Given the description of an element on the screen output the (x, y) to click on. 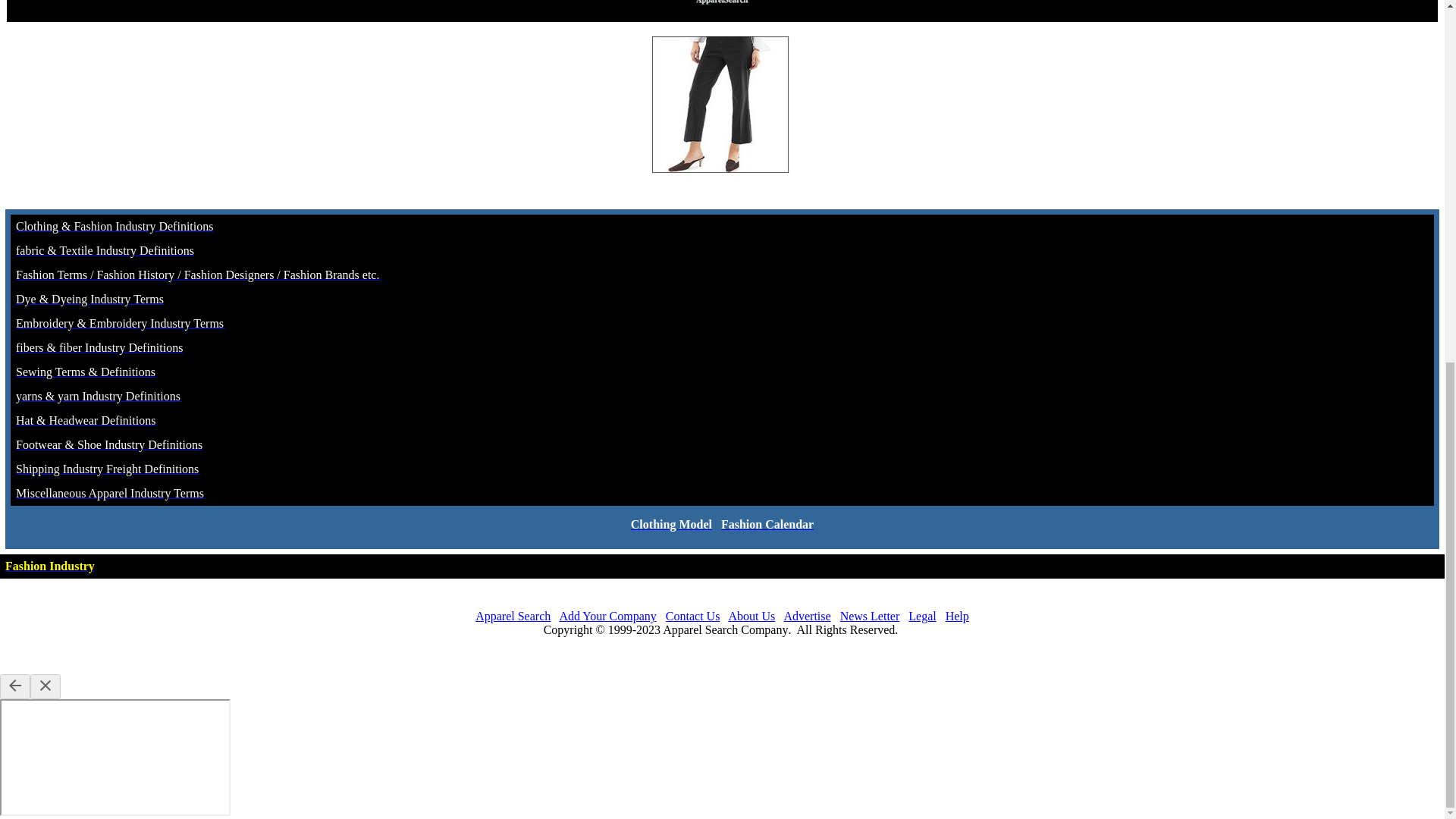
Miscellaneous (52, 492)
Shipping Industry Freight Definitions (107, 468)
Definitions (185, 226)
Fashion (36, 274)
Apparel Industry Terms (145, 492)
Definitions (155, 347)
Definitions (152, 395)
